Given the description of an element on the screen output the (x, y) to click on. 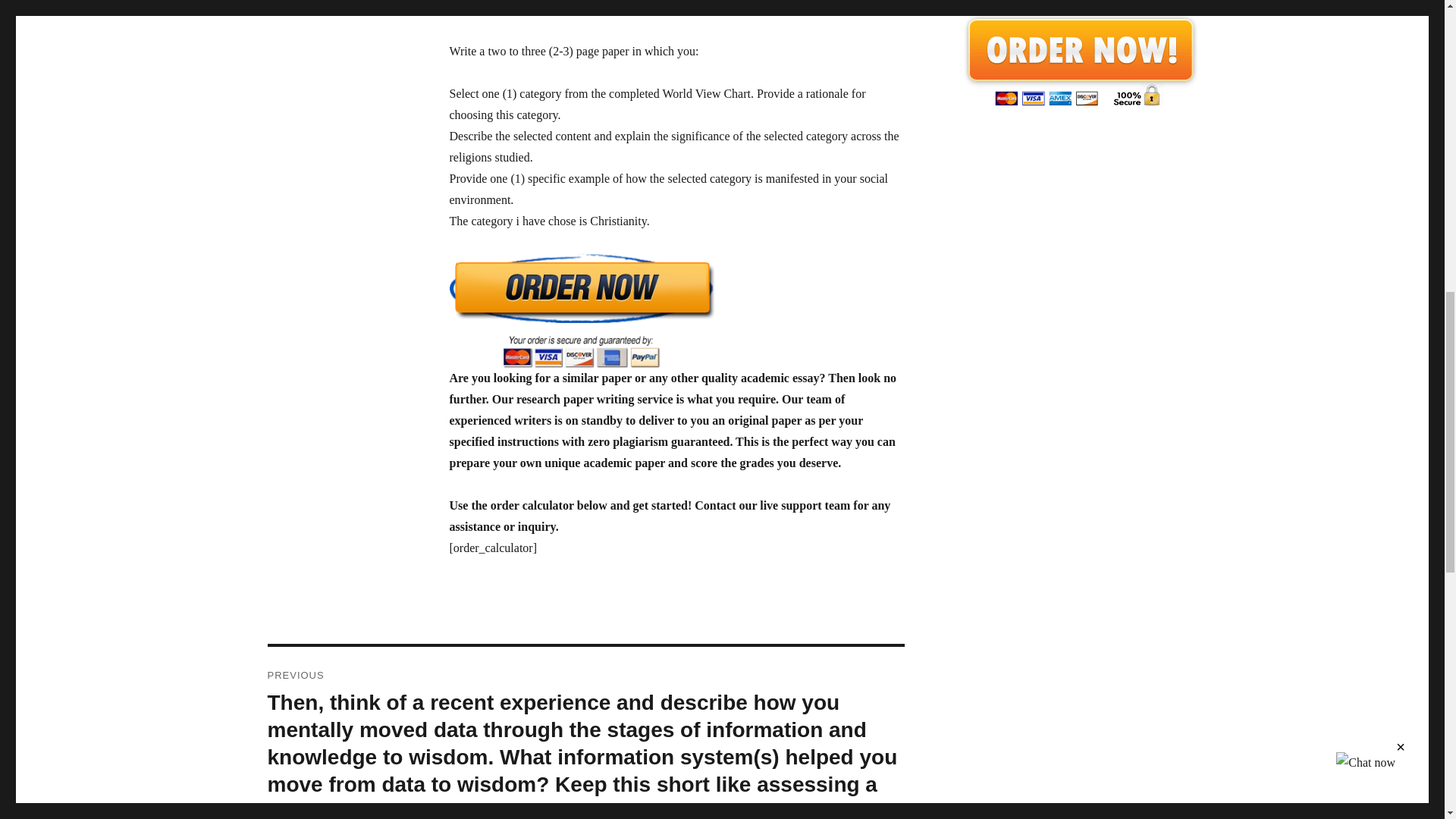
Click to Order (1079, 60)
Click to Order (676, 310)
